Given the description of an element on the screen output the (x, y) to click on. 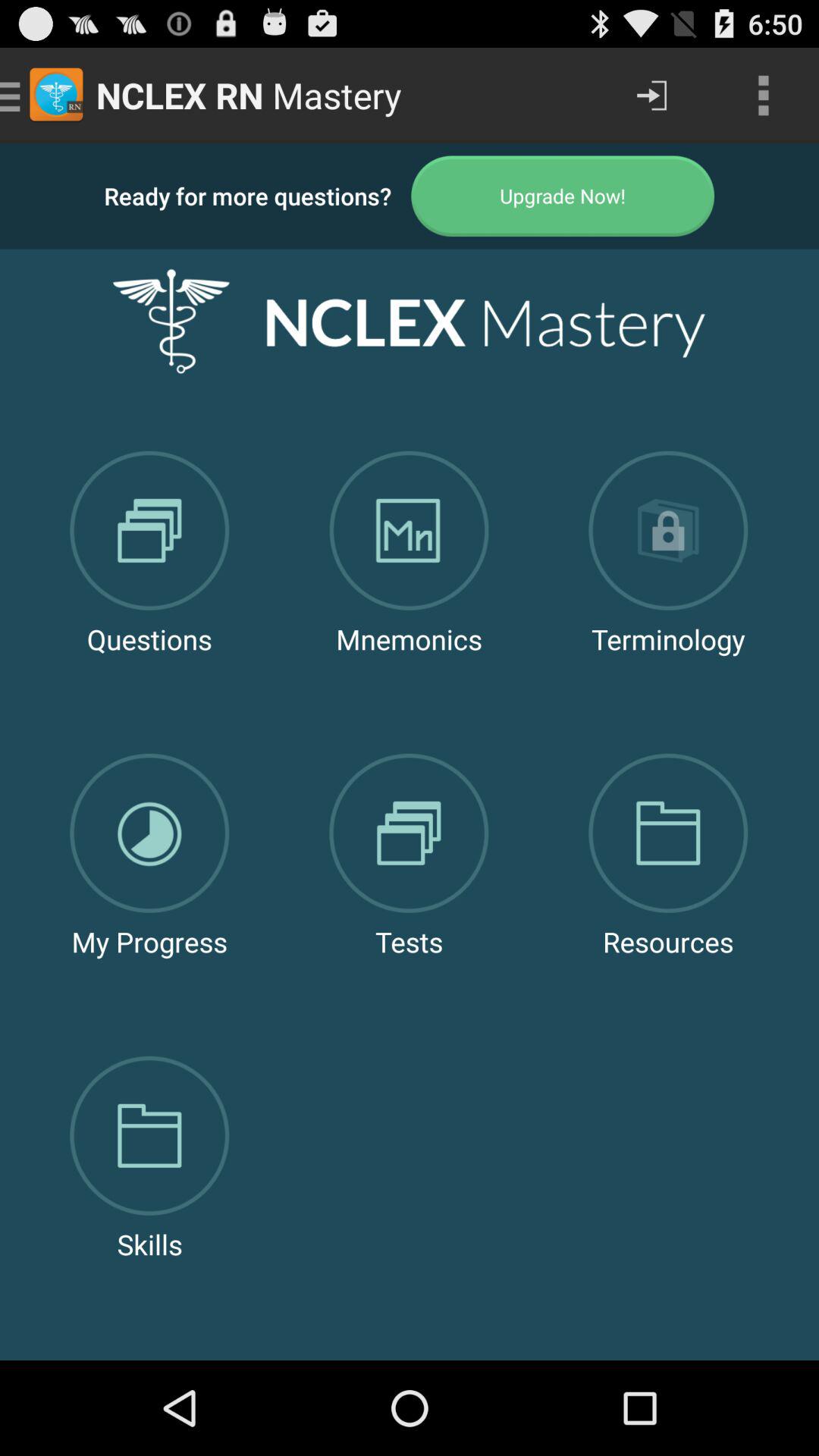
upgrade to paid version of app (562, 195)
